Given the description of an element on the screen output the (x, y) to click on. 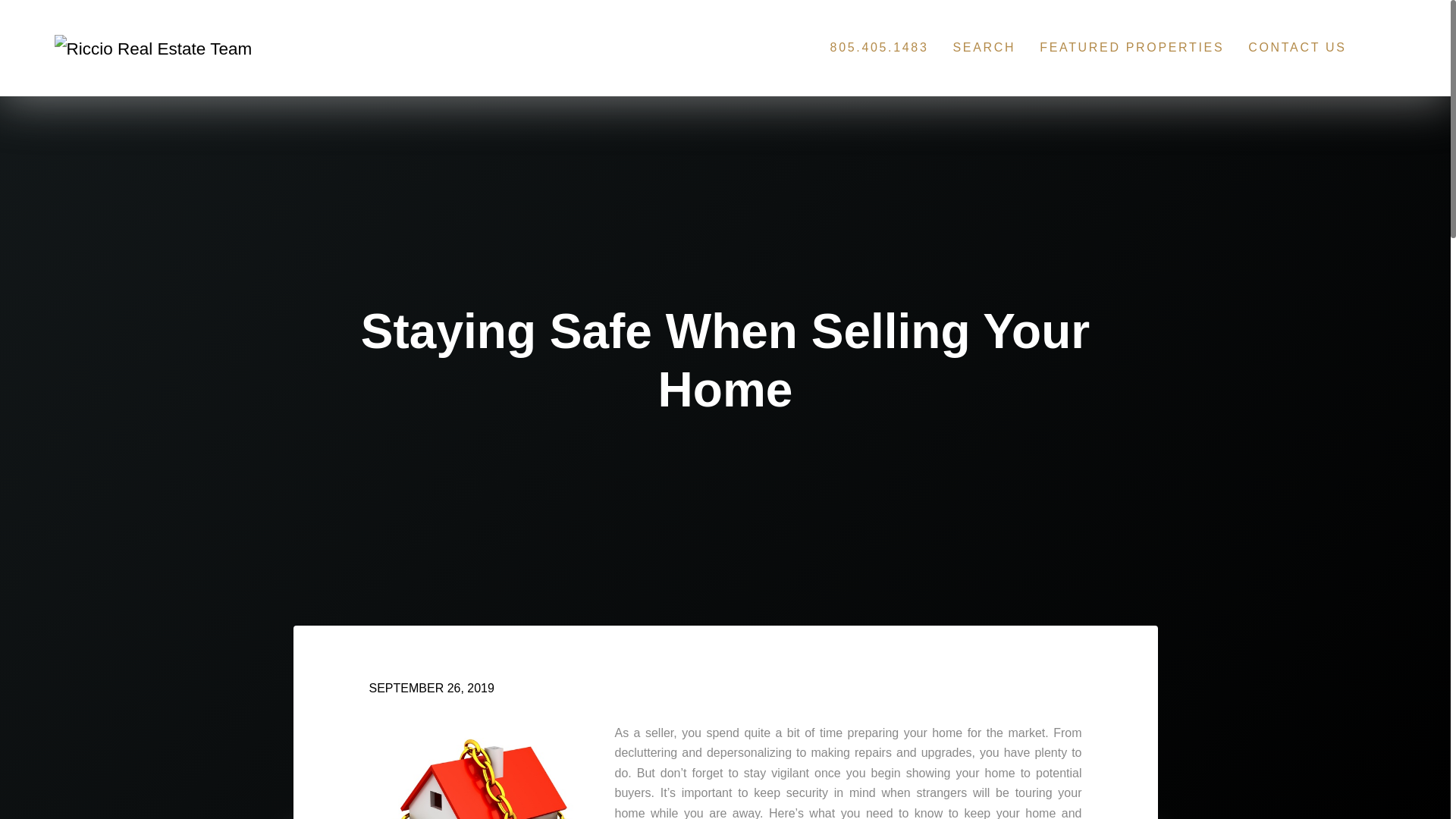
SEARCH (983, 47)
CONTACT US (1296, 47)
FEATURED PROPERTIES (1131, 47)
805.405.1483 (878, 47)
